Given the description of an element on the screen output the (x, y) to click on. 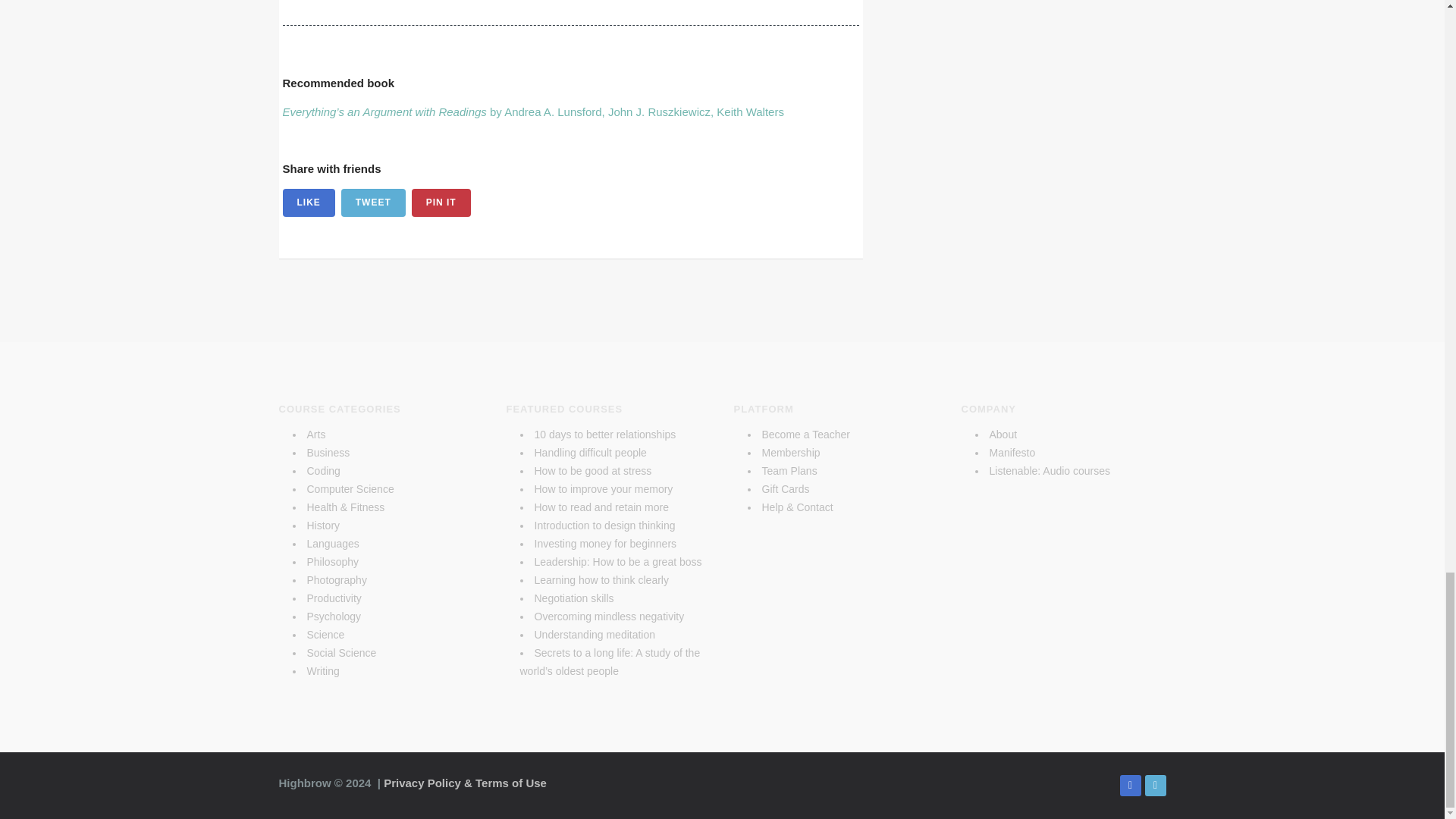
Photography (335, 580)
LIKE (308, 203)
History (322, 525)
Computer Science (349, 489)
Arts (314, 434)
Business (327, 452)
Languages (331, 543)
Coding (322, 470)
PIN IT (441, 203)
TWEET (373, 203)
Philosophy (331, 562)
